Given the description of an element on the screen output the (x, y) to click on. 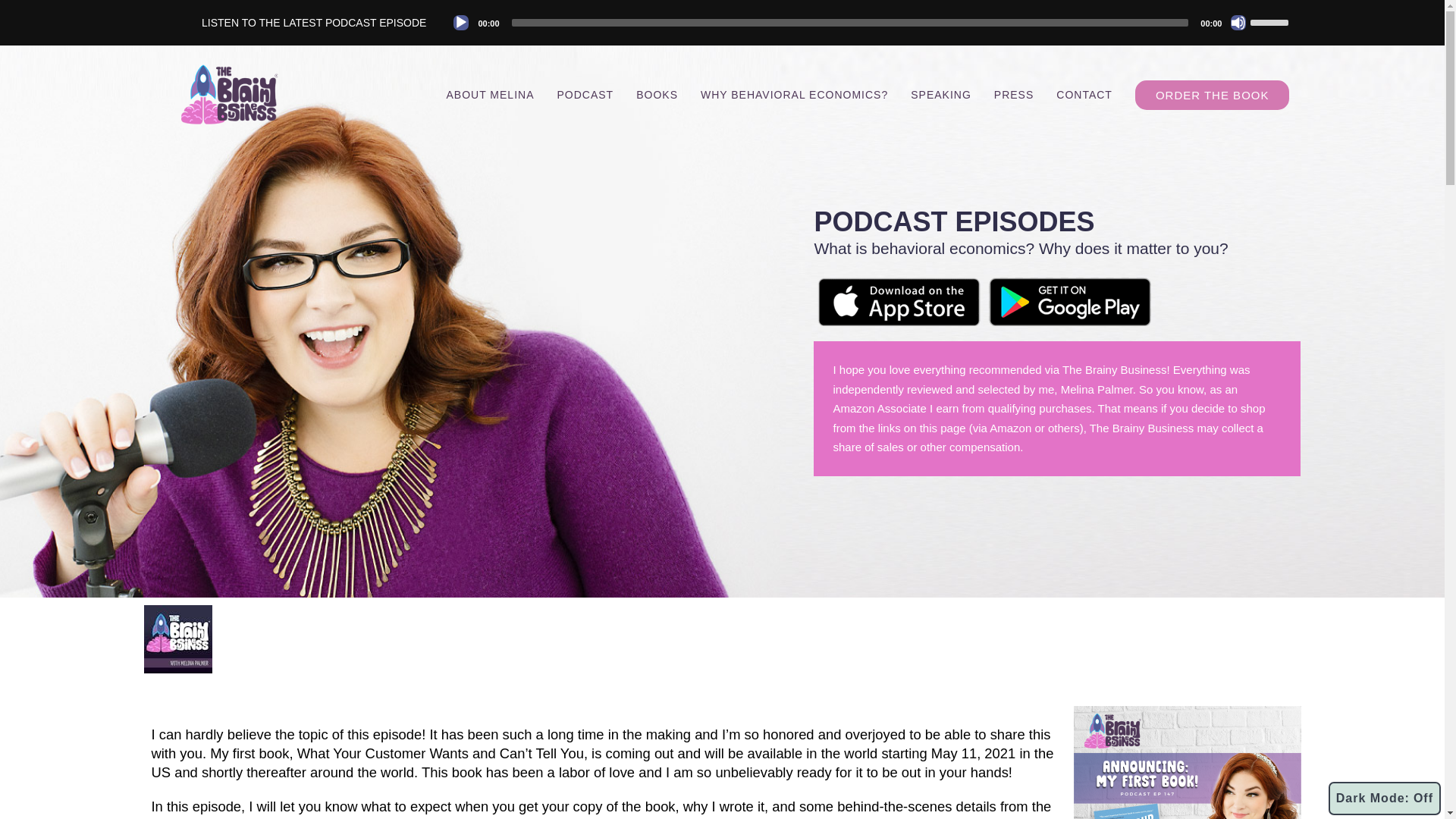
PODCAST (584, 94)
CONTACT (1084, 94)
Mute (1238, 22)
Play (460, 22)
SPEAKING (940, 94)
BOOKS (656, 94)
the-brainy (229, 94)
WHY BEHAVIORAL ECONOMICS? (793, 94)
ABOUT MELINA (488, 94)
PRESS (1013, 94)
ORDER THE BOOK (1212, 94)
